Given the description of an element on the screen output the (x, y) to click on. 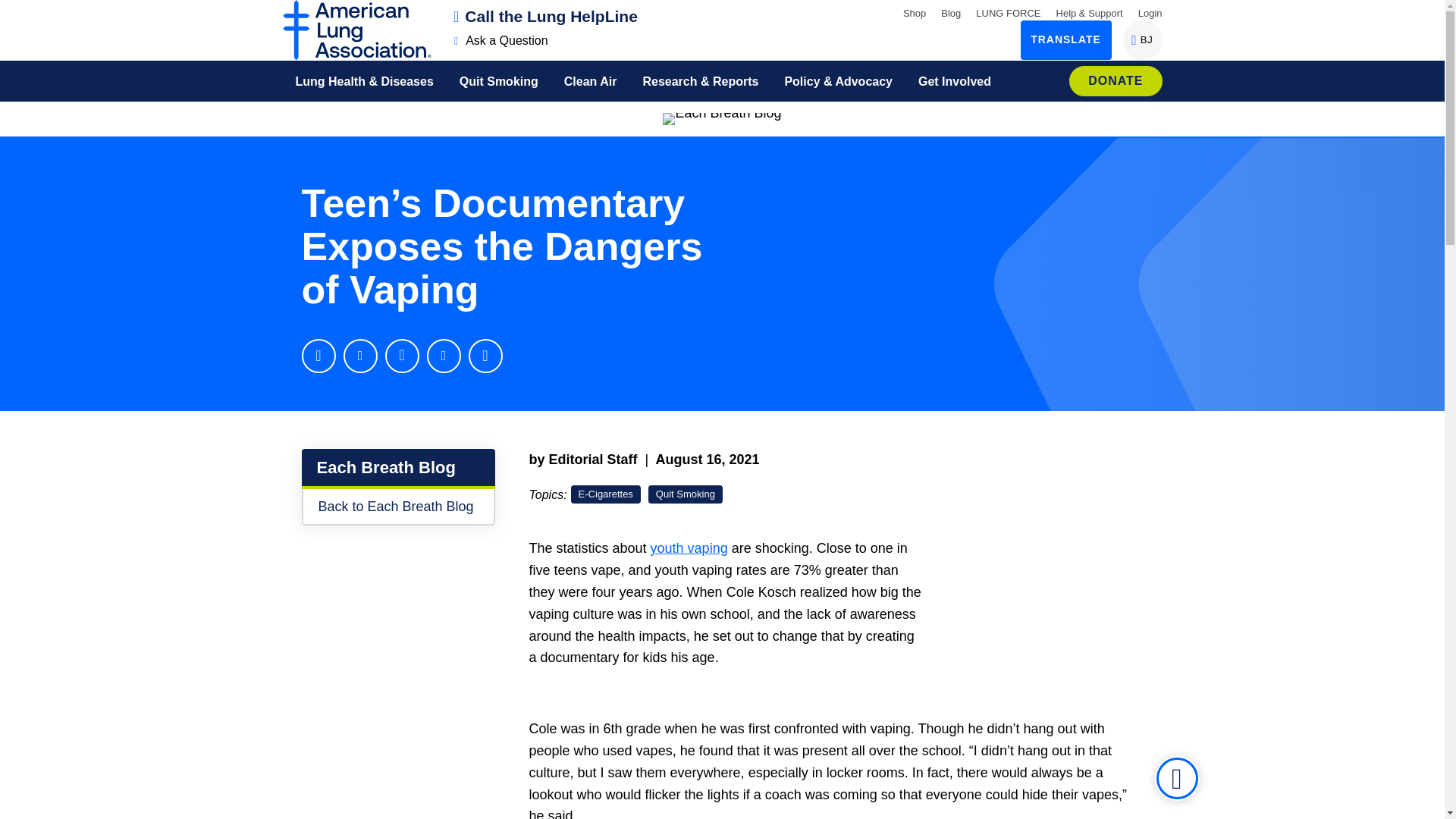
Shop (1141, 39)
LUNG FORCE (914, 13)
SKIP TO MAIN CONTENT (1008, 13)
Blog (18, 10)
Ask a Question (950, 13)
Login (501, 40)
Call the Lung HelpLine (1149, 13)
TRANSLATE (545, 16)
